Given the description of an element on the screen output the (x, y) to click on. 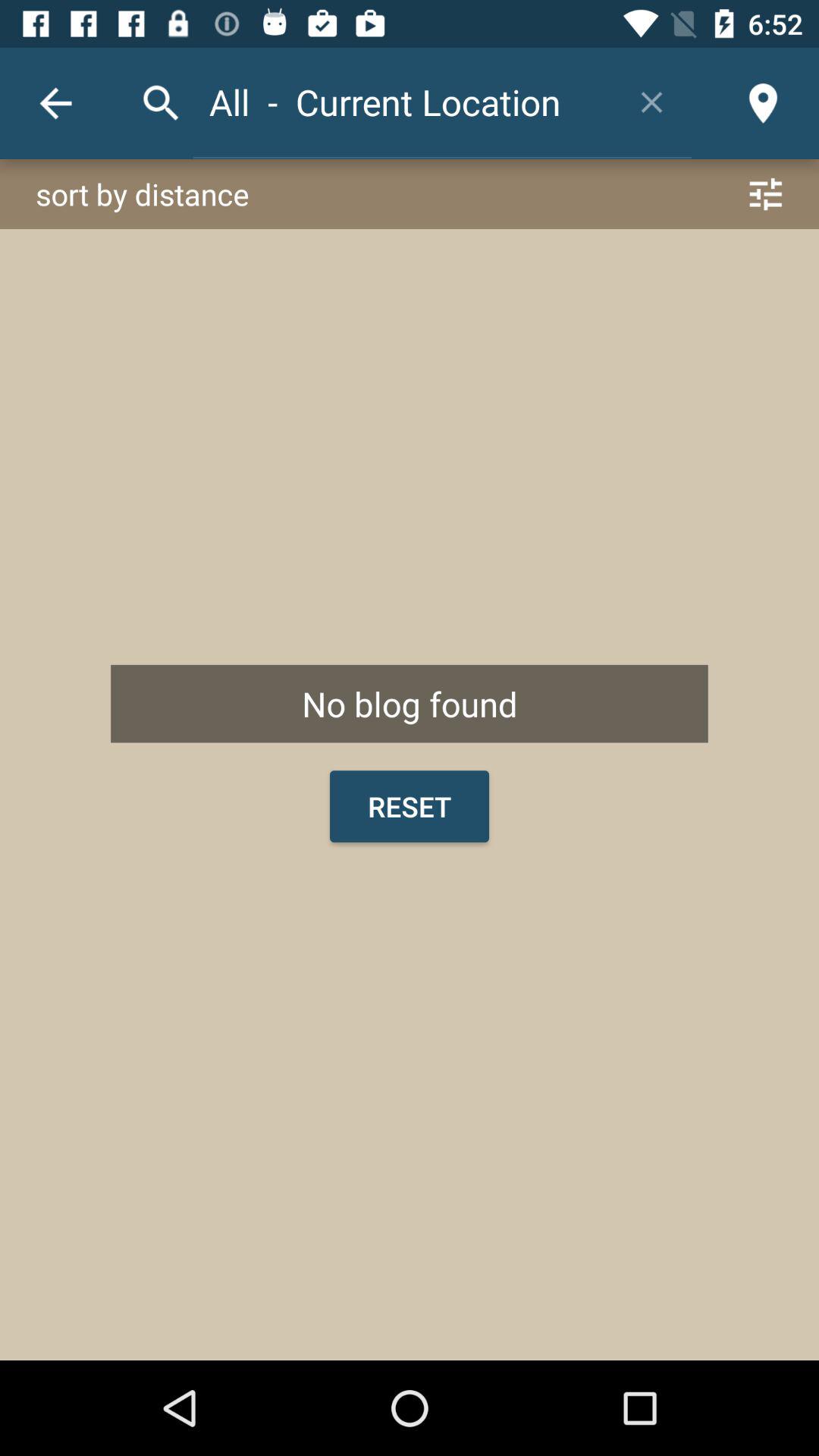
jump to sort by distance item (409, 194)
